Given the description of an element on the screen output the (x, y) to click on. 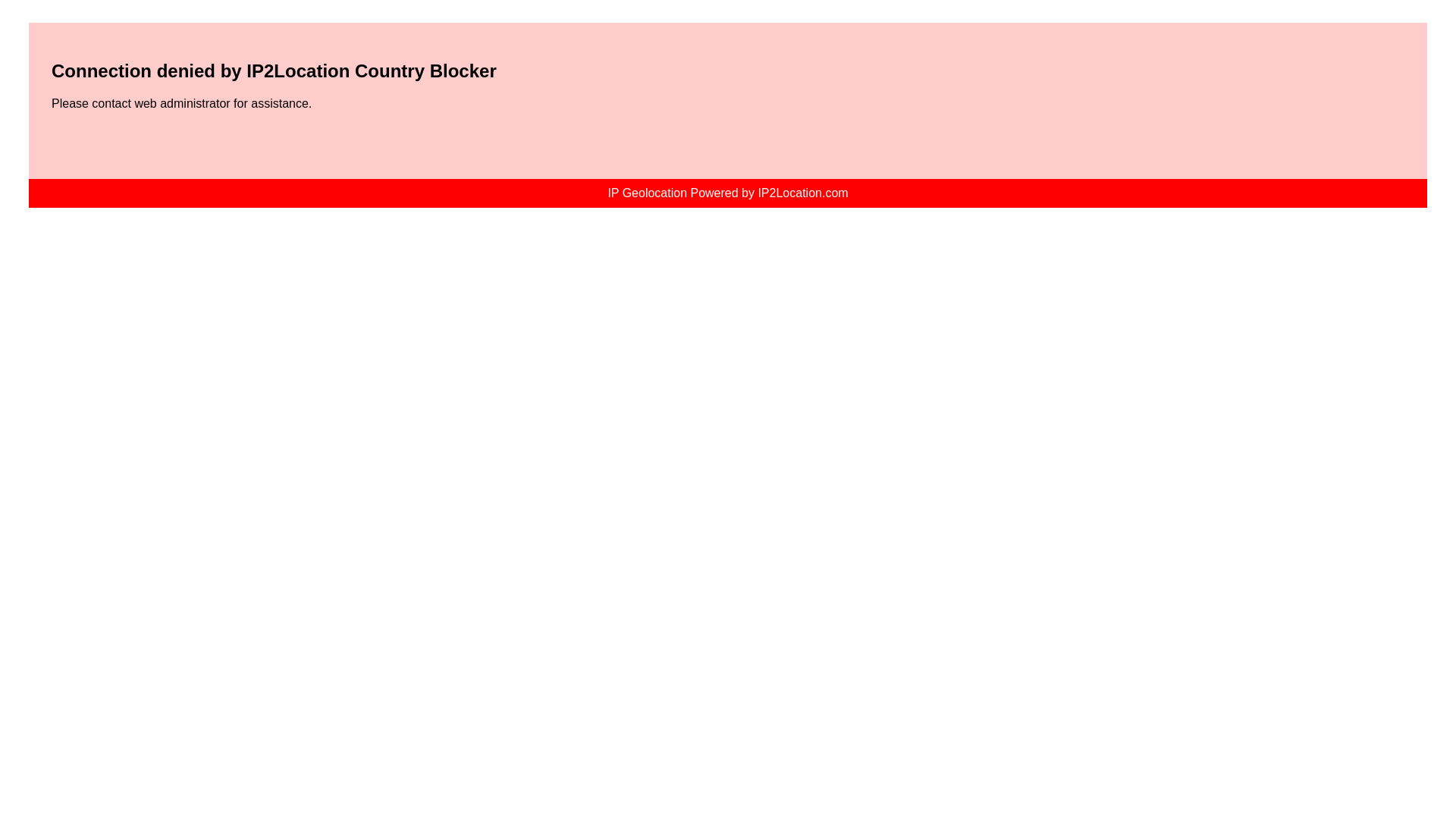
IP Geolocation Powered by IP2Location.com (727, 192)
